Given the description of an element on the screen output the (x, y) to click on. 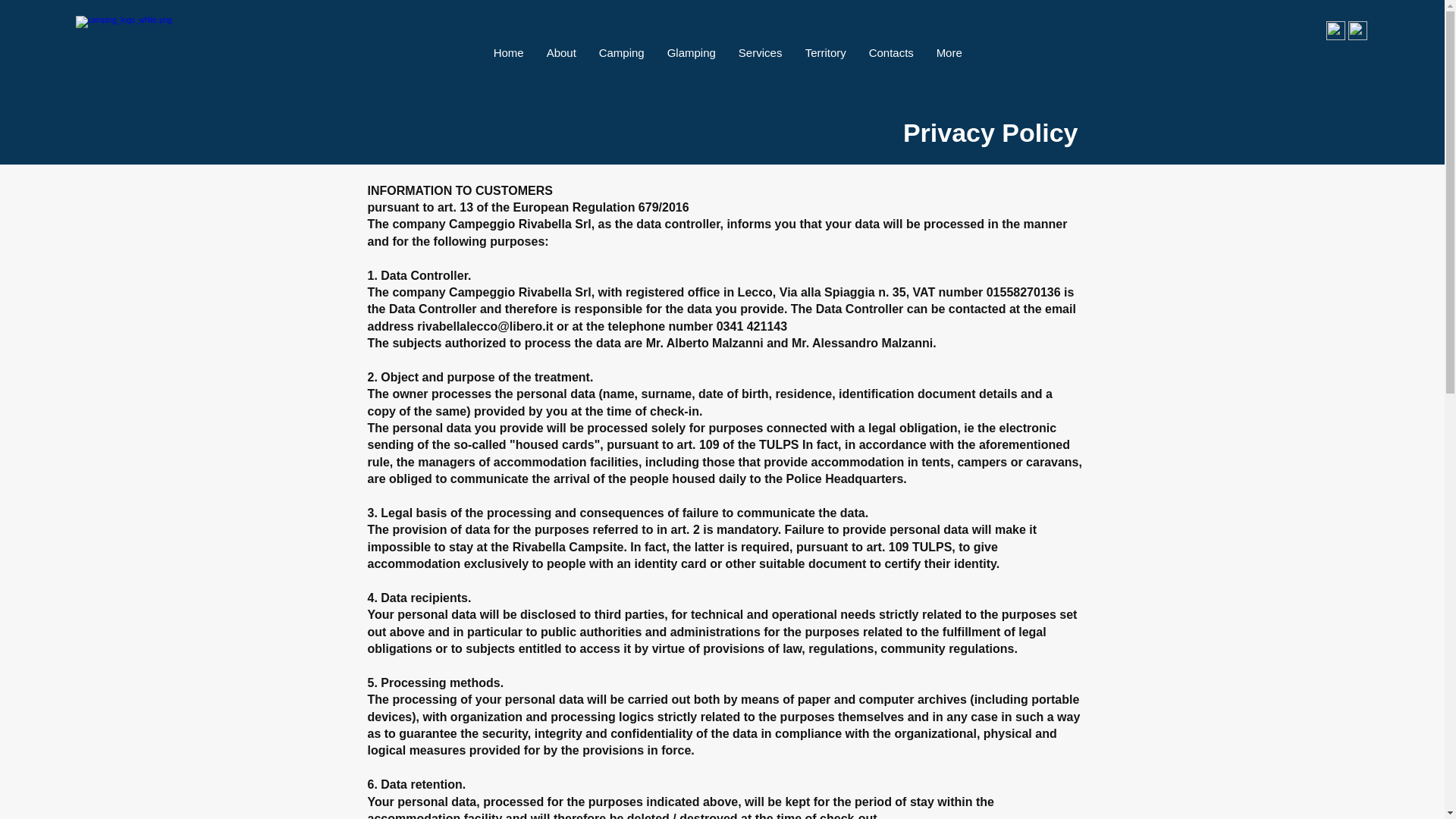
About (561, 53)
Contacts (890, 53)
Services (759, 53)
Home (508, 53)
Territory (825, 53)
Glamping (691, 53)
Camping (622, 53)
